Given the description of an element on the screen output the (x, y) to click on. 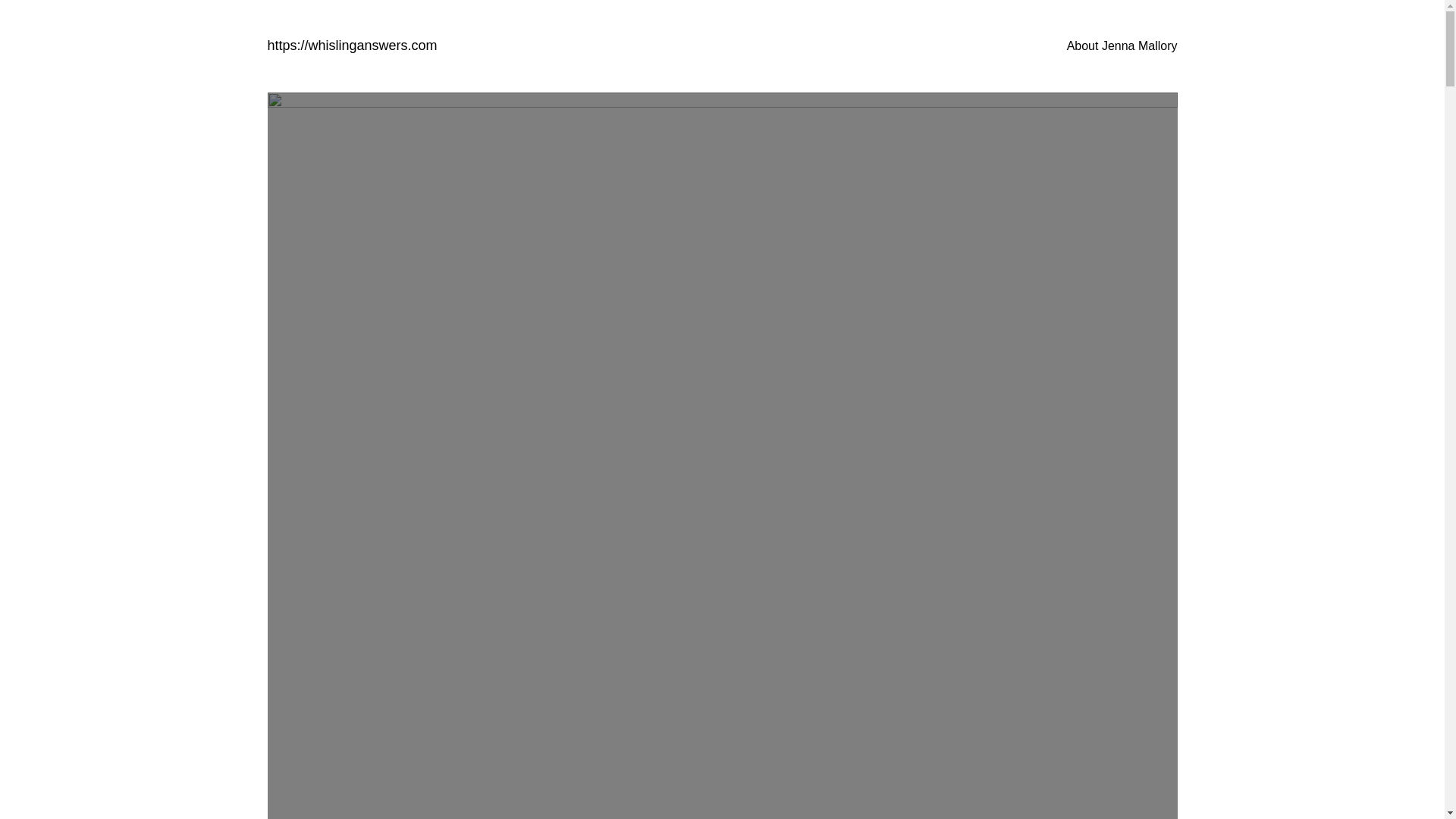
About Jenna Mallory (1122, 46)
